Given the description of an element on the screen output the (x, y) to click on. 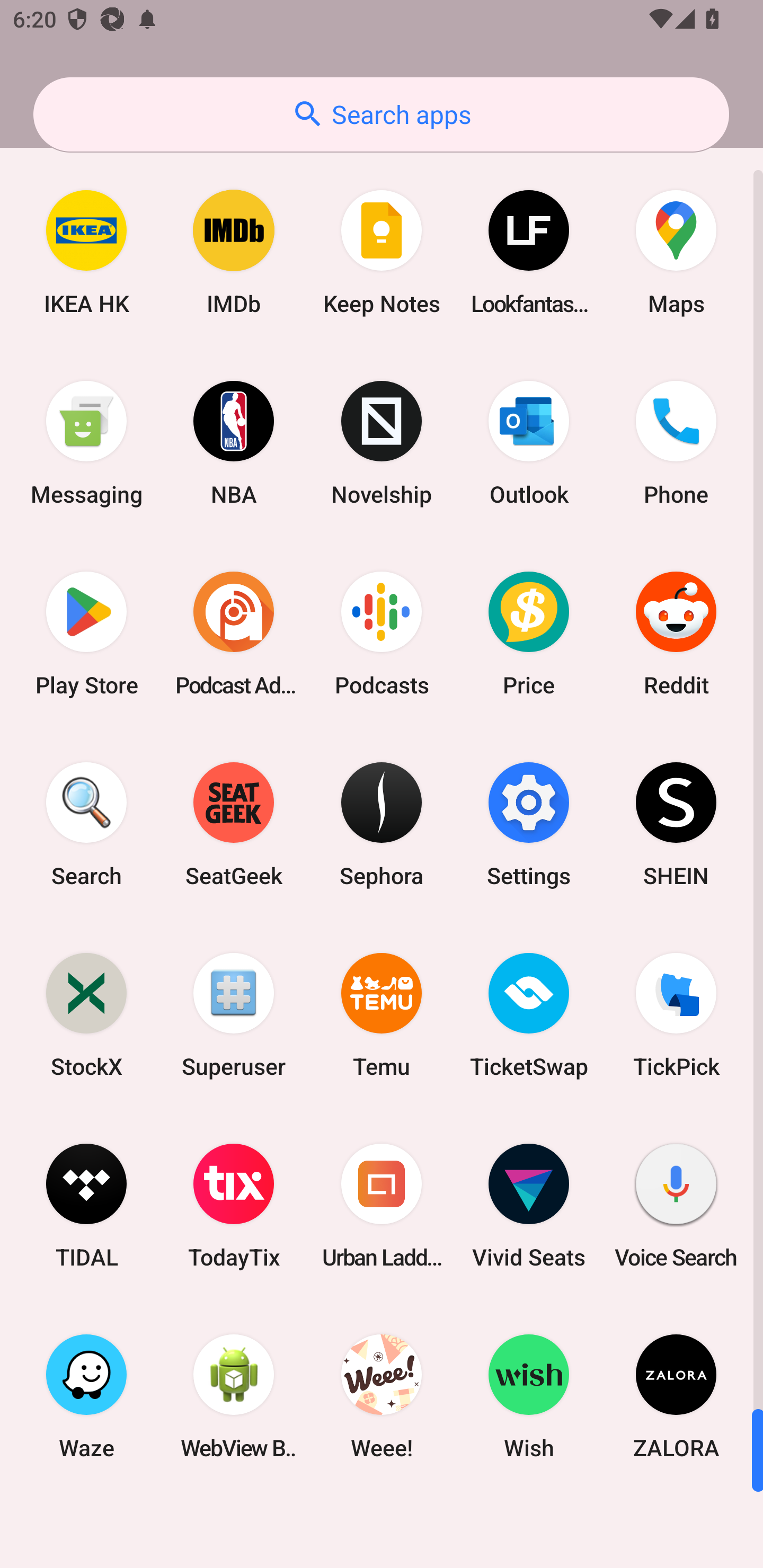
  Search apps (381, 114)
IKEA HK (86, 252)
IMDb (233, 252)
Keep Notes (381, 252)
Lookfantastic (528, 252)
Maps (676, 252)
Messaging (86, 442)
NBA (233, 442)
Novelship (381, 442)
Outlook (528, 442)
Phone (676, 442)
Play Store (86, 633)
Podcast Addict (233, 633)
Podcasts (381, 633)
Price (528, 633)
Reddit (676, 633)
Search (86, 823)
SeatGeek (233, 823)
Sephora (381, 823)
Settings (528, 823)
SHEIN (676, 823)
StockX (86, 1014)
Superuser (233, 1014)
Temu (381, 1014)
TicketSwap (528, 1014)
TickPick (676, 1014)
TIDAL (86, 1205)
TodayTix (233, 1205)
Urban Ladder (381, 1205)
Vivid Seats (528, 1205)
Voice Search (676, 1205)
Waze (86, 1396)
WebView Browser Tester (233, 1396)
Weee! (381, 1396)
Wish (528, 1396)
ZALORA (676, 1396)
